Given the description of an element on the screen output the (x, y) to click on. 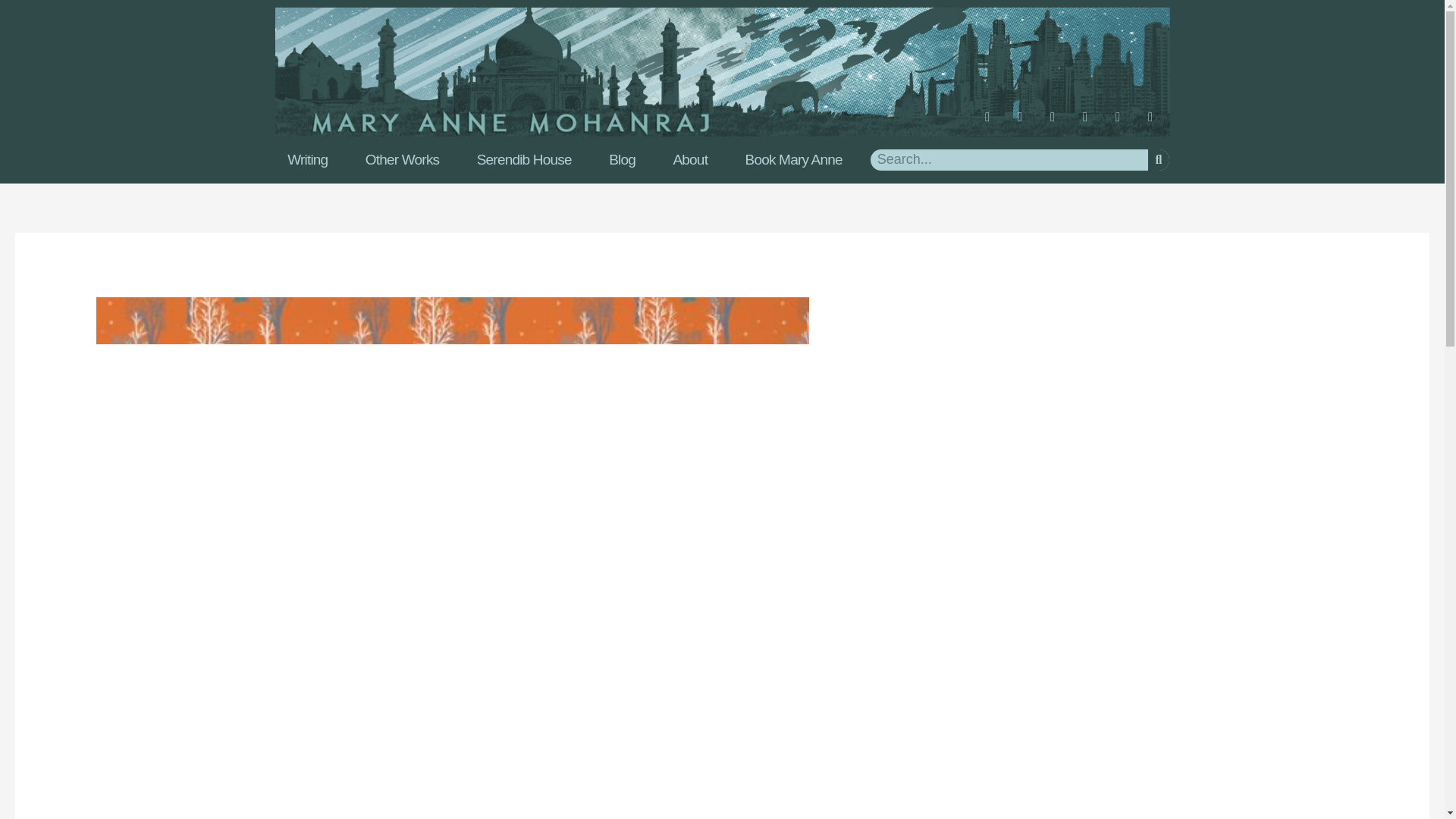
Blog (621, 159)
About (689, 159)
Other Works (402, 159)
Shopping-bag (1155, 123)
Writing (306, 159)
Serendib House (523, 159)
Instagram (1026, 123)
Facebook (994, 123)
Twitter (1090, 123)
Youtube (1058, 123)
Patreon (1124, 123)
